Given the description of an element on the screen output the (x, y) to click on. 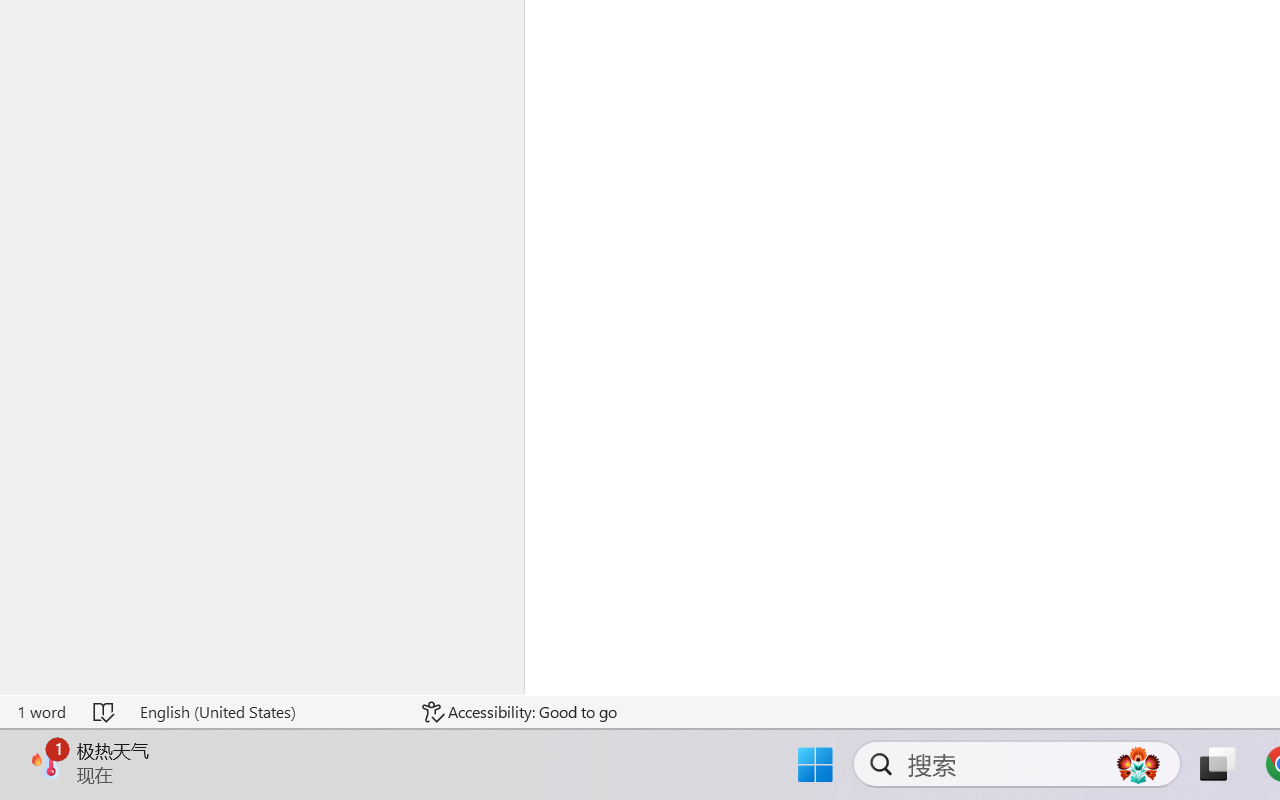
AutomationID: BadgeAnchorLargeTicker (46, 762)
Word Count 1 word (41, 712)
Language English (United States) (267, 712)
Accessibility Checker Accessibility: Good to go (519, 712)
Spelling and Grammar Check No Errors (105, 712)
